Given the description of an element on the screen output the (x, y) to click on. 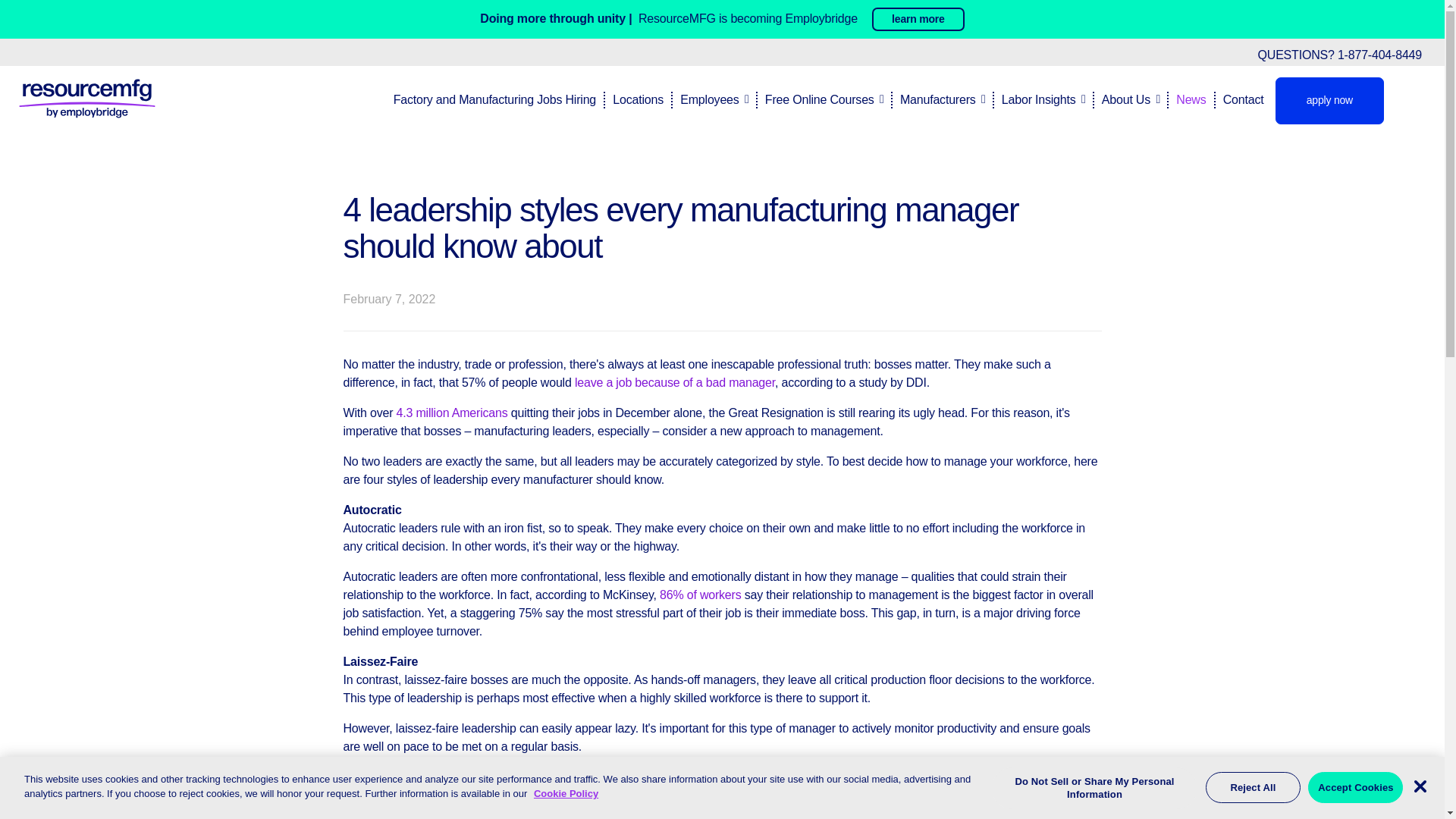
Factory and Manufacturing Jobs Hiring (494, 99)
apply now (1329, 99)
4.3 million Americans (452, 412)
Manufacturers (936, 99)
About Us (1124, 99)
learn more (917, 19)
leave a job because of a bad manager (674, 382)
Free Online Courses (817, 99)
Contact (1238, 99)
Employees (707, 99)
